Given the description of an element on the screen output the (x, y) to click on. 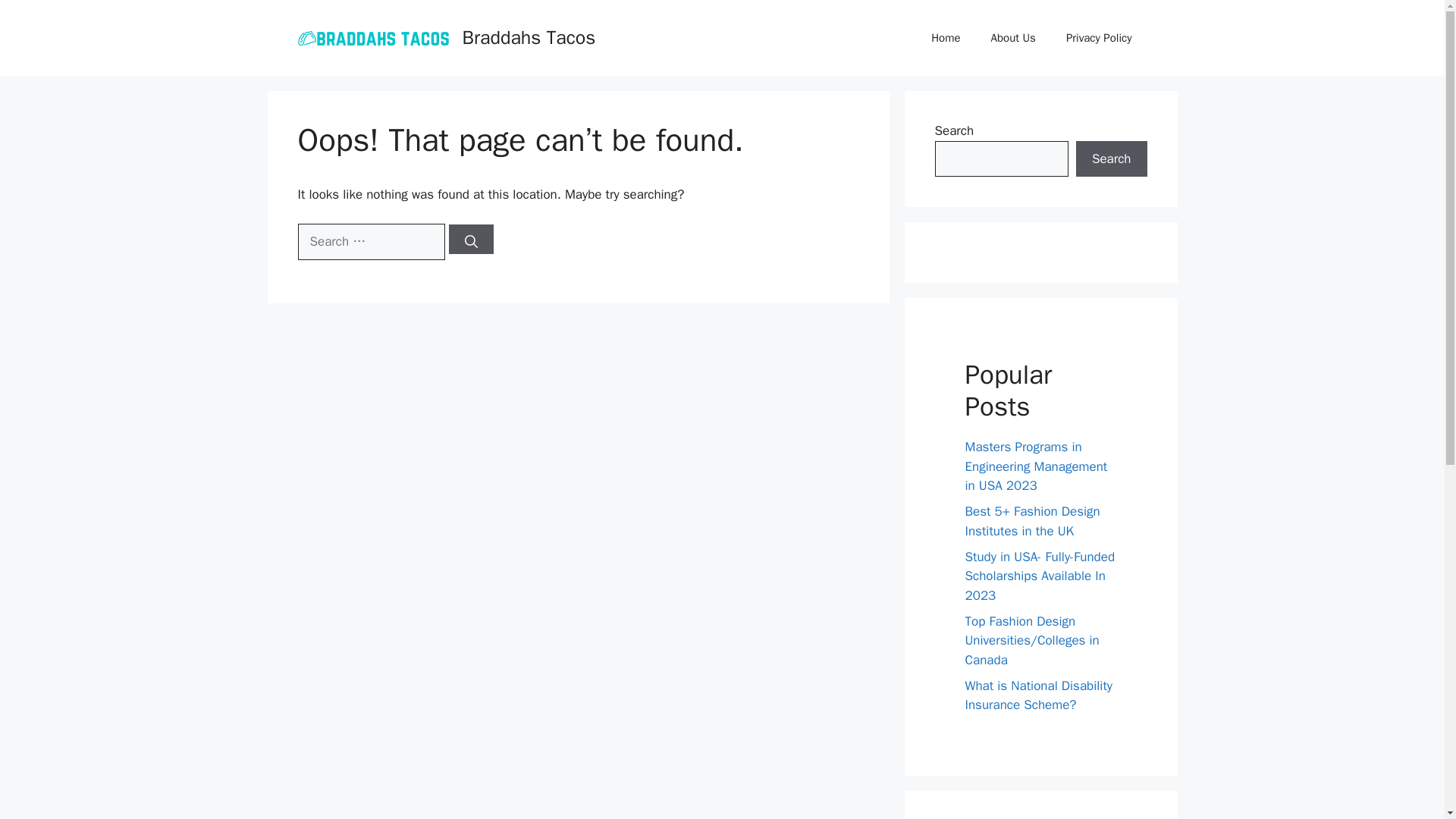
About Us (1013, 37)
Masters Programs in Engineering Management in USA 2023 (1034, 465)
Study in USA- Fully-Funded Scholarships Available In 2023 (1039, 575)
Search for: (370, 241)
Home (945, 37)
Privacy Policy (1099, 37)
What is National Disability Insurance Scheme? (1037, 695)
Search (1111, 158)
Braddahs Tacos (529, 37)
